Given the description of an element on the screen output the (x, y) to click on. 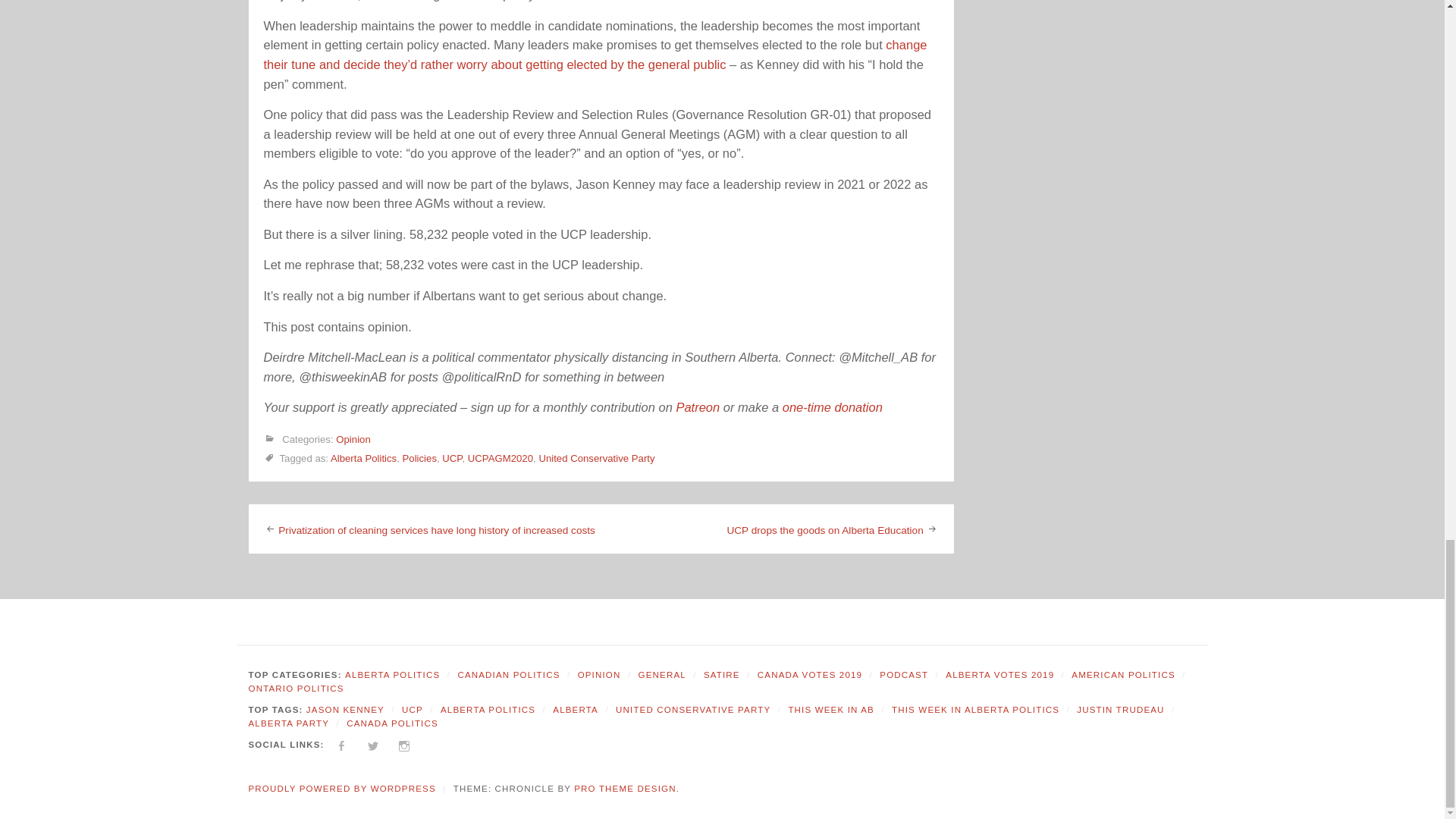
A Semantic Personal Publishing Platform (341, 788)
UCP drops the goods on Alberta Education (824, 530)
ALBERTA POLITICS (392, 674)
Patreon (697, 407)
UCPAGM2020 (499, 458)
CANADIAN POLITICS (508, 674)
Opinion (352, 439)
United Conservative Party (595, 458)
one-time donation (832, 407)
